Given the description of an element on the screen output the (x, y) to click on. 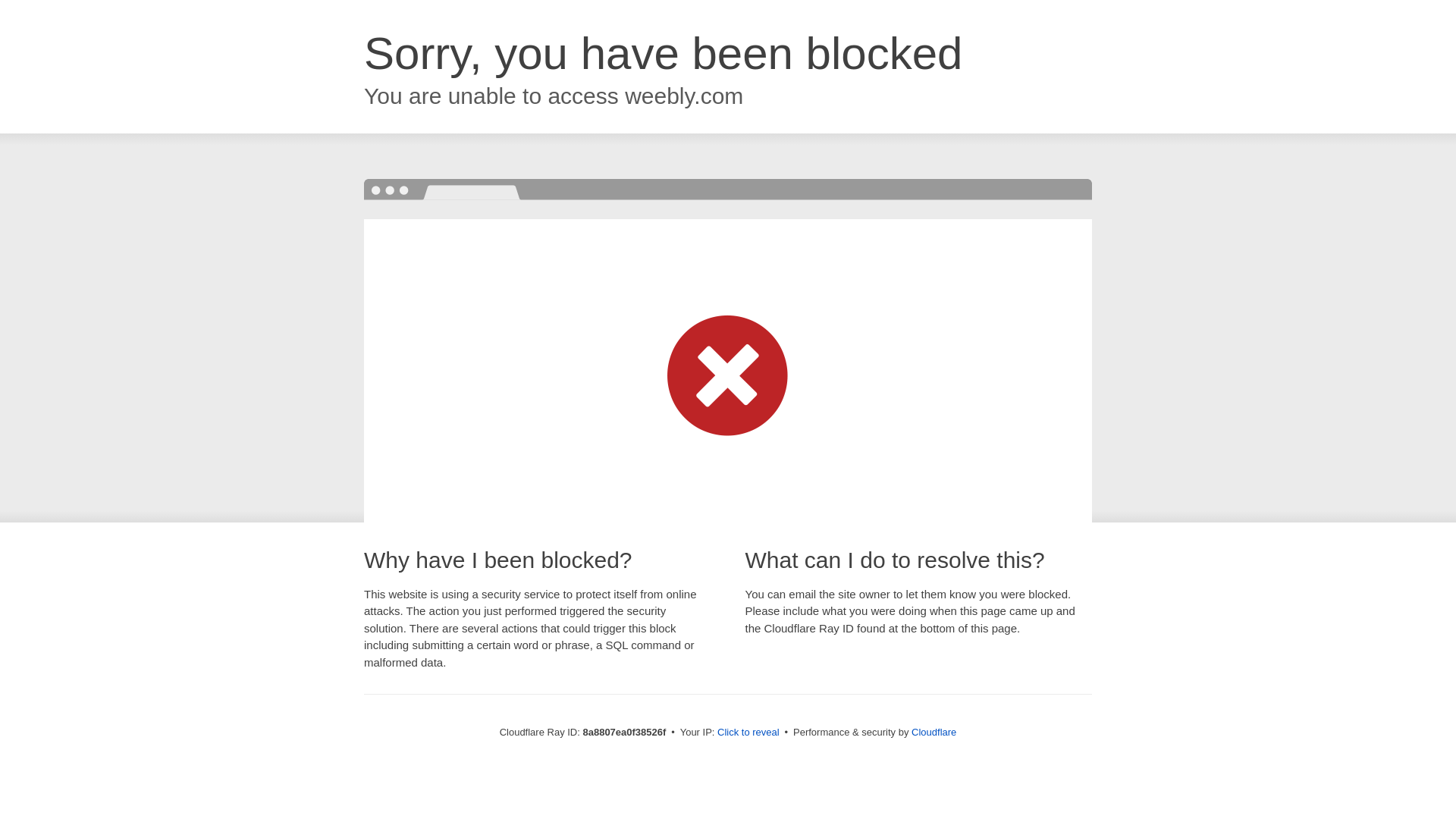
Cloudflare (933, 731)
Click to reveal (747, 732)
